Given the description of an element on the screen output the (x, y) to click on. 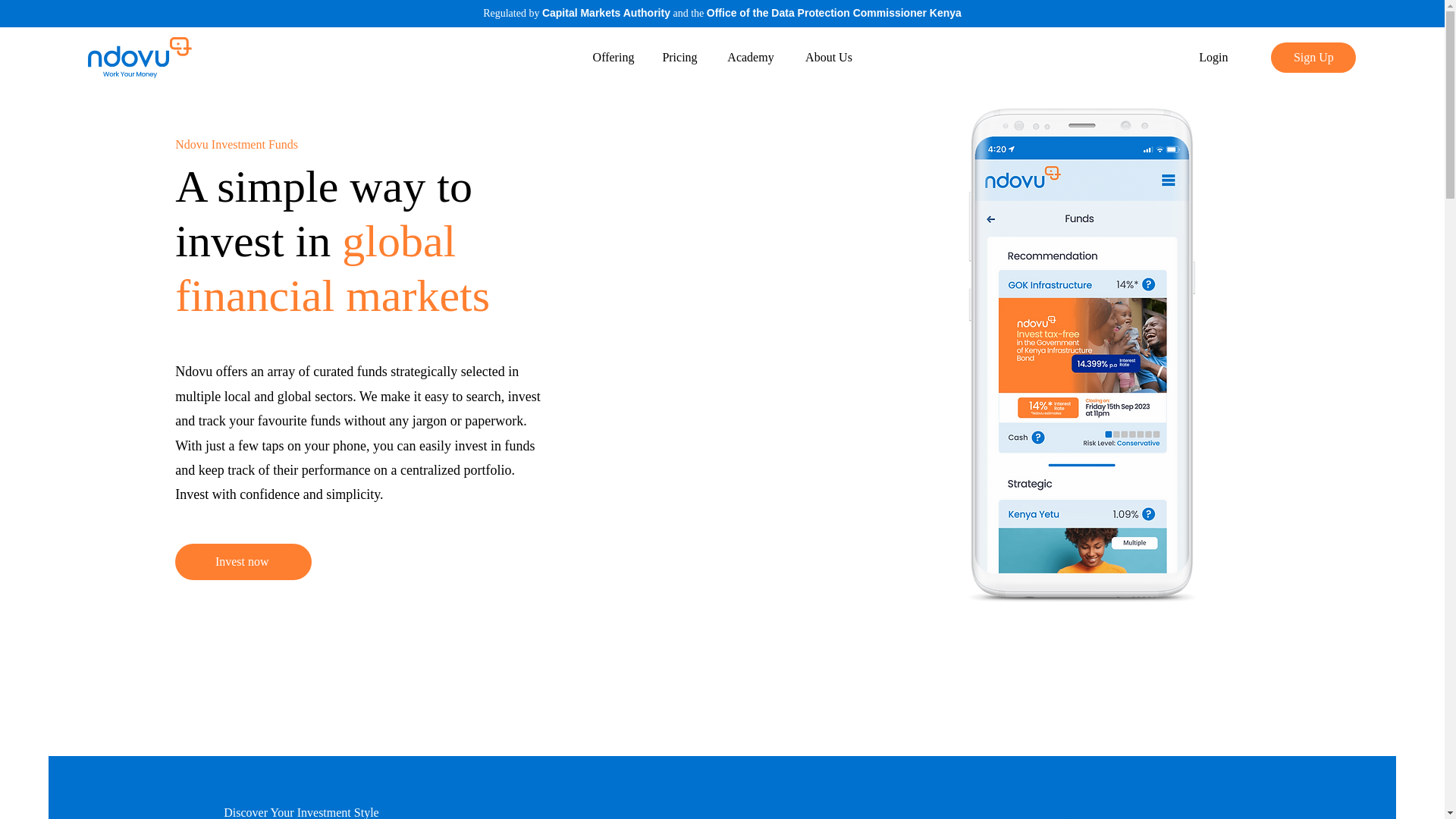
Login (1212, 57)
Invest now (242, 561)
Sign Up (1313, 57)
